Given the description of an element on the screen output the (x, y) to click on. 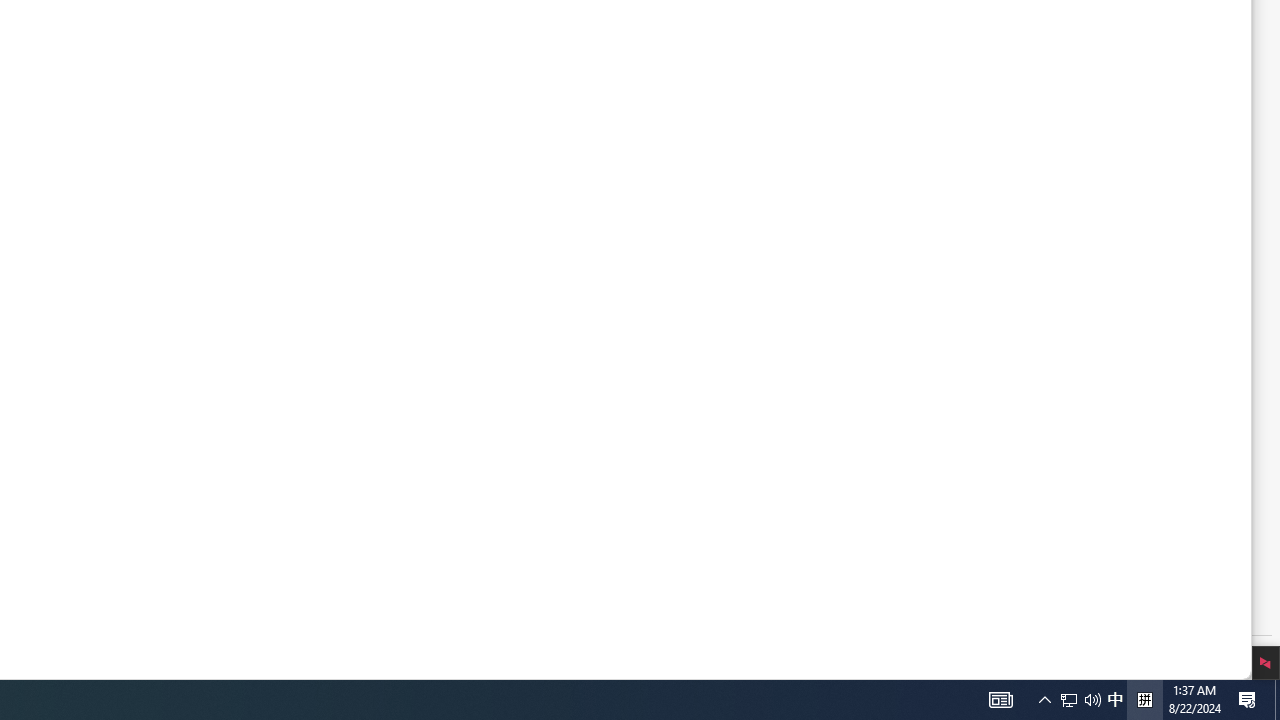
Investors (148, 335)
Advertise with us (169, 407)
eBay Giving Works (467, 425)
Policies (230, 432)
Careers (230, 360)
Careers (145, 360)
United States (505, 522)
Announcements (460, 378)
Contact us (505, 312)
Verified Rights Owner (VeRO) Program (230, 456)
Your Privacy Choices (262, 597)
CA Privacy Notice (148, 597)
Announcements (505, 378)
AdChoice (383, 597)
